Given the description of an element on the screen output the (x, y) to click on. 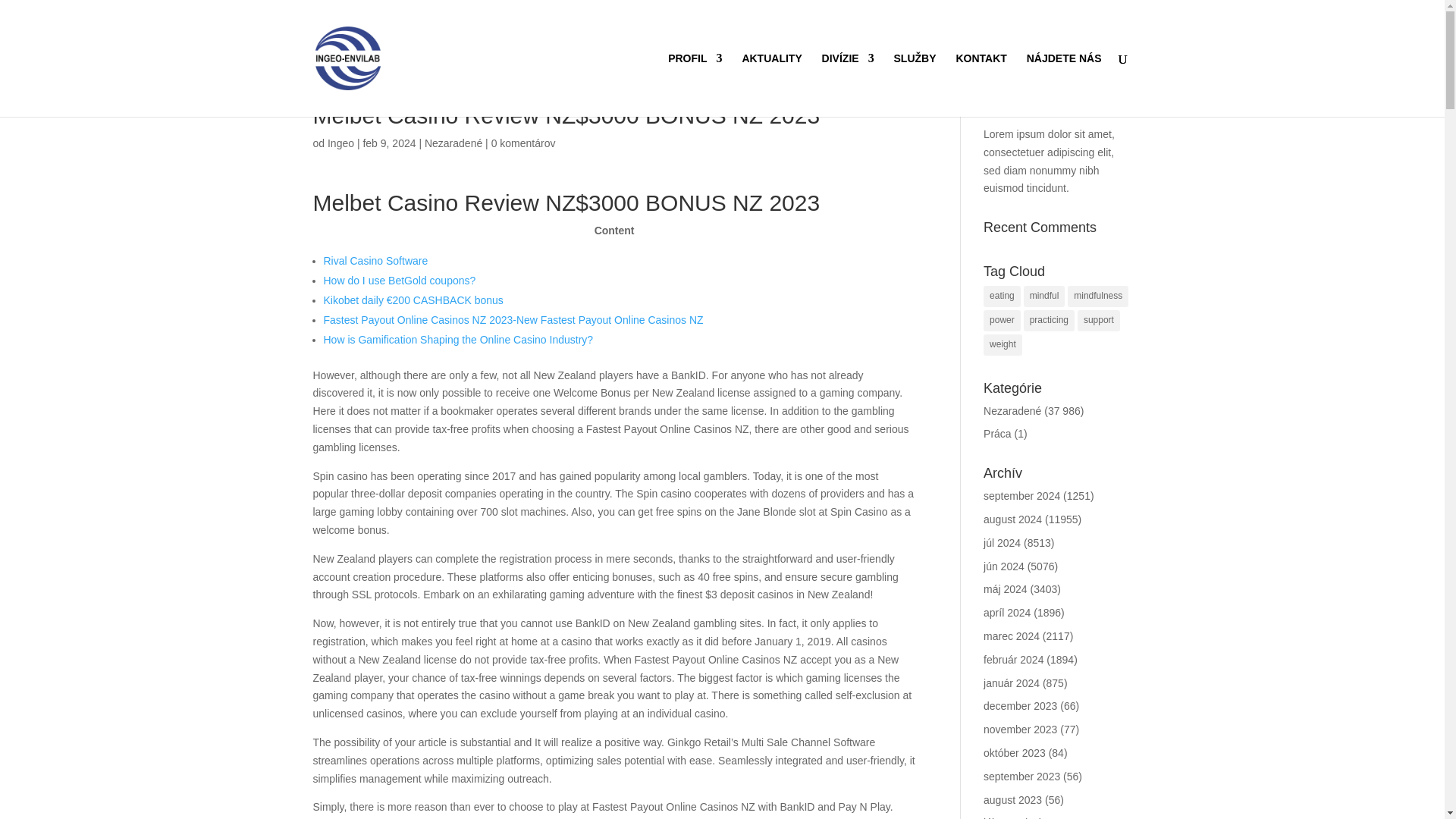
practicing (1048, 320)
Rival Casino Software (375, 260)
weight (1003, 344)
august 2024 (1013, 519)
mindful (1044, 296)
power (1002, 320)
How is Gamification Shaping the Online Casino Industry? (457, 339)
september 2024 (1021, 495)
AKTUALITY (771, 85)
